Given the description of an element on the screen output the (x, y) to click on. 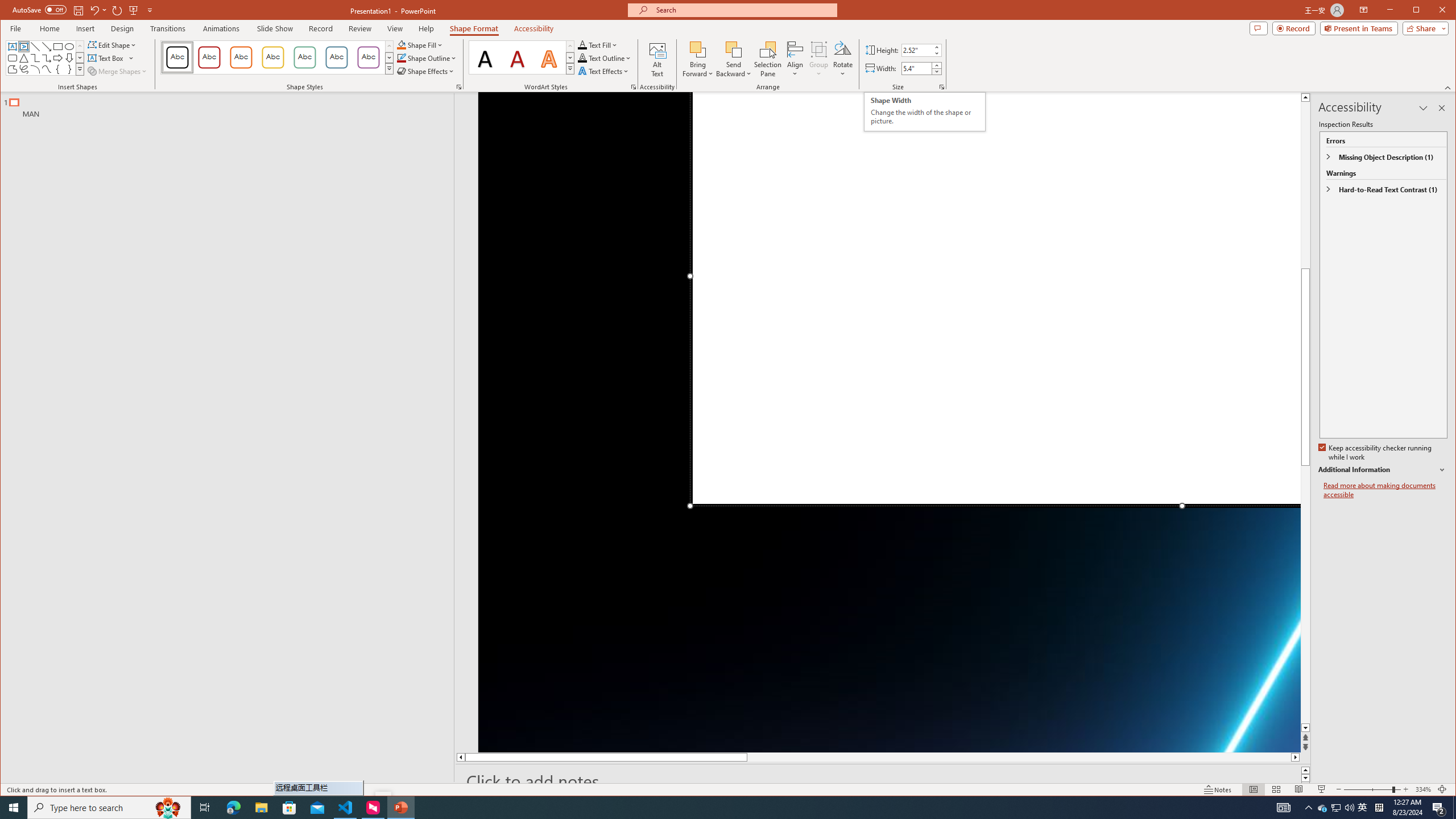
Colored Outline - Purple, Accent 6 (368, 57)
Draw Horizontal Text Box (106, 57)
Colored Outline - Gold, Accent 3 (272, 57)
